Given the description of an element on the screen output the (x, y) to click on. 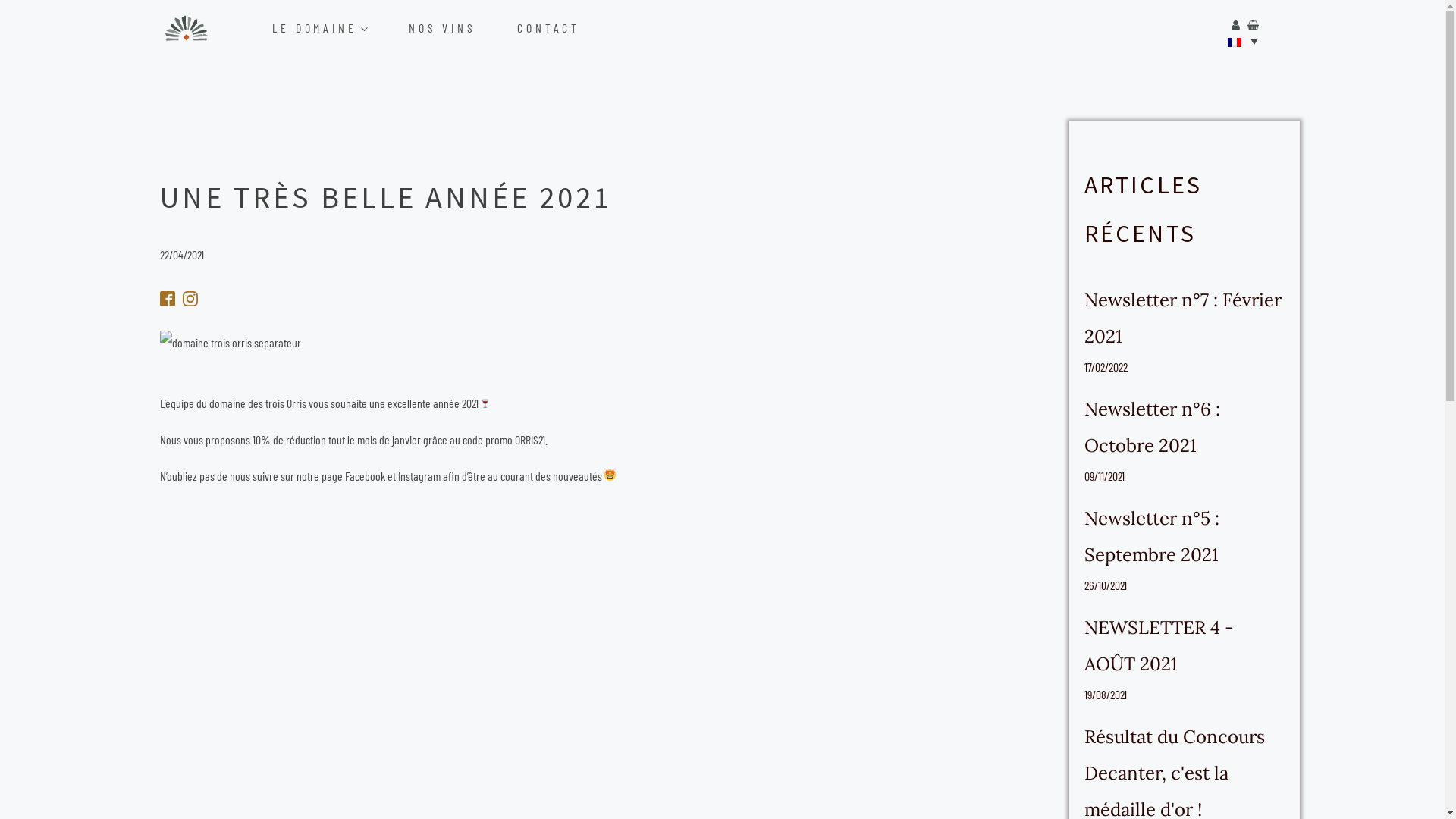
CONTACT Element type: text (565, 27)
NOS VINS Element type: text (458, 27)
LE DOMAINE Element type: text (336, 27)
